Given the description of an element on the screen output the (x, y) to click on. 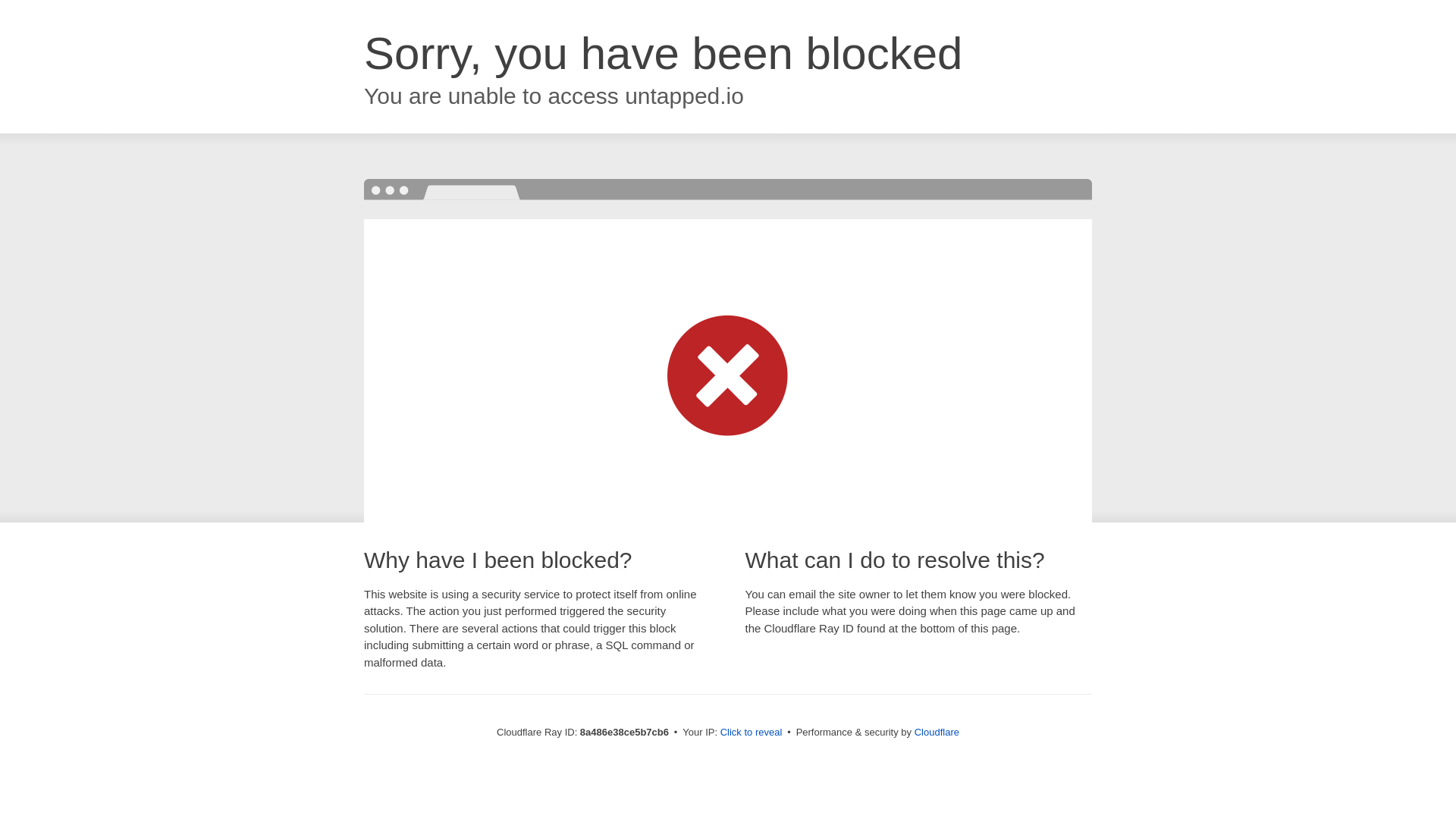
Cloudflare (936, 731)
Click to reveal (751, 732)
